Given the description of an element on the screen output the (x, y) to click on. 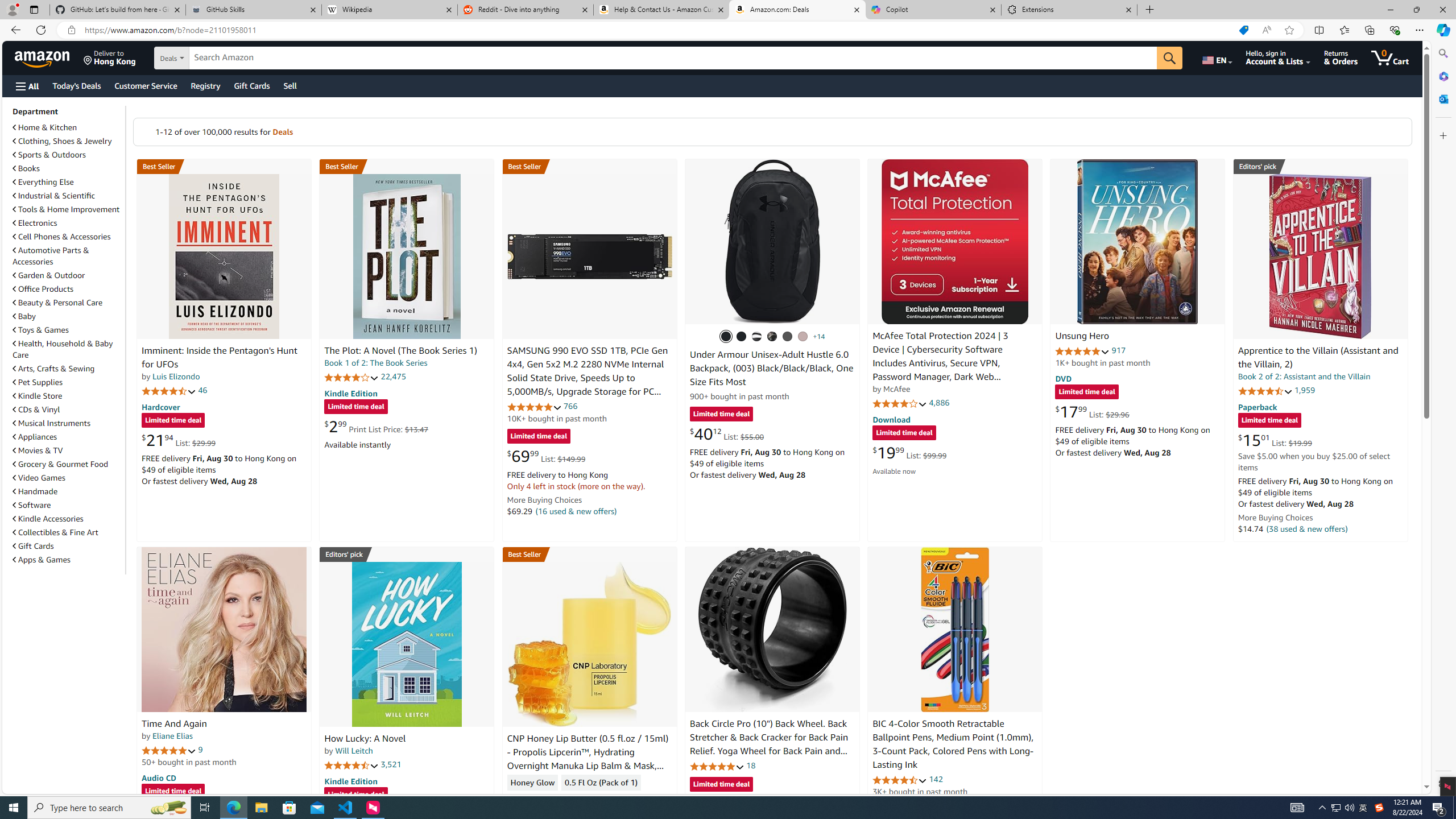
Kindle Store (37, 395)
Editors' pick Best Mystery, Thriller & Suspense (406, 553)
Limited time deal (721, 784)
Hardcover (160, 406)
Garden & Outdoor (67, 274)
(003) Black / Black / Black (725, 336)
$17.99 List: $29.96 (1092, 411)
Beauty & Personal Care (67, 301)
4.2 out of 5 stars (352, 377)
0 items in cart (1389, 57)
(015) Tetra Gray / Tetra Gray / Gray Matter (802, 336)
Help & Contact Us - Amazon Customer Service (660, 9)
$40.12 List: $55.00 (726, 433)
